Given the description of an element on the screen output the (x, y) to click on. 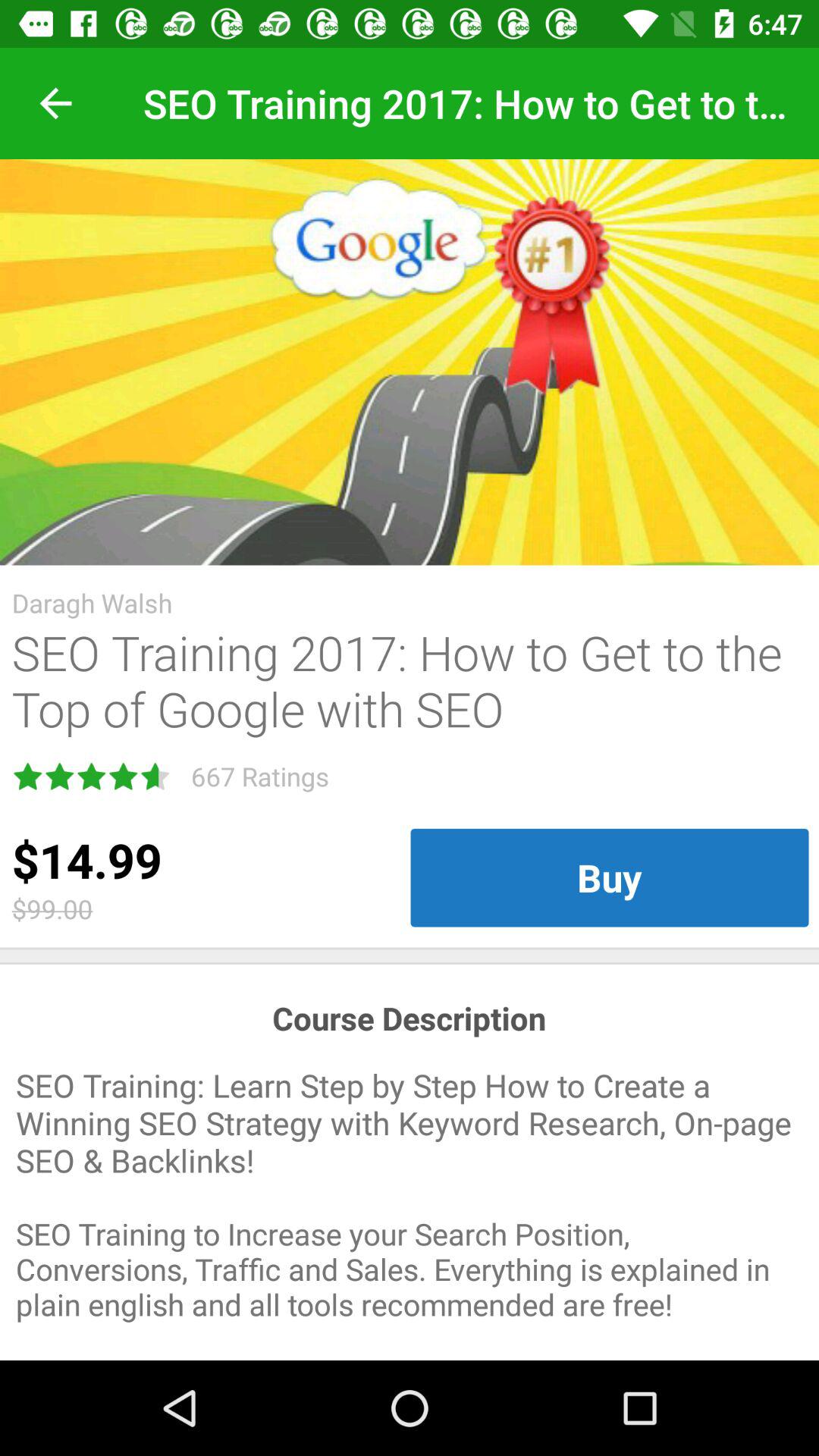
scroll until the buy icon (609, 877)
